Given the description of an element on the screen output the (x, y) to click on. 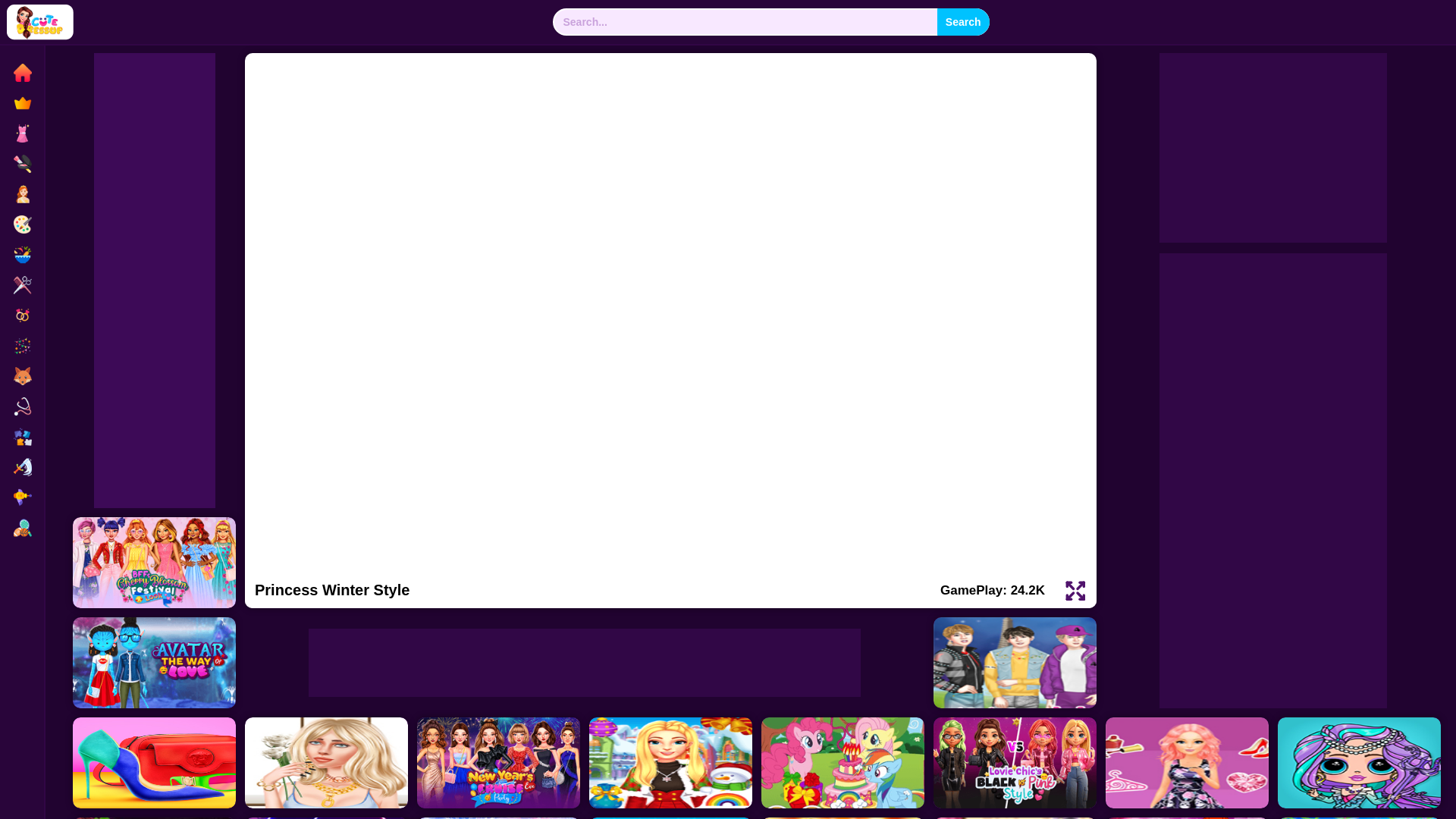
Baddie Billie Evolution (325, 762)
Search (963, 22)
Search (963, 22)
Search (963, 22)
New Years Eve Cruise Party (497, 762)
BTS World Tour (1014, 662)
Advertisement (1272, 147)
Avatar The Way Of Love (153, 662)
Advertisement (584, 662)
Bffs Cherry Blossom Festival Look (153, 562)
TikTok Trends: Color Block (153, 762)
